Given the description of an element on the screen output the (x, y) to click on. 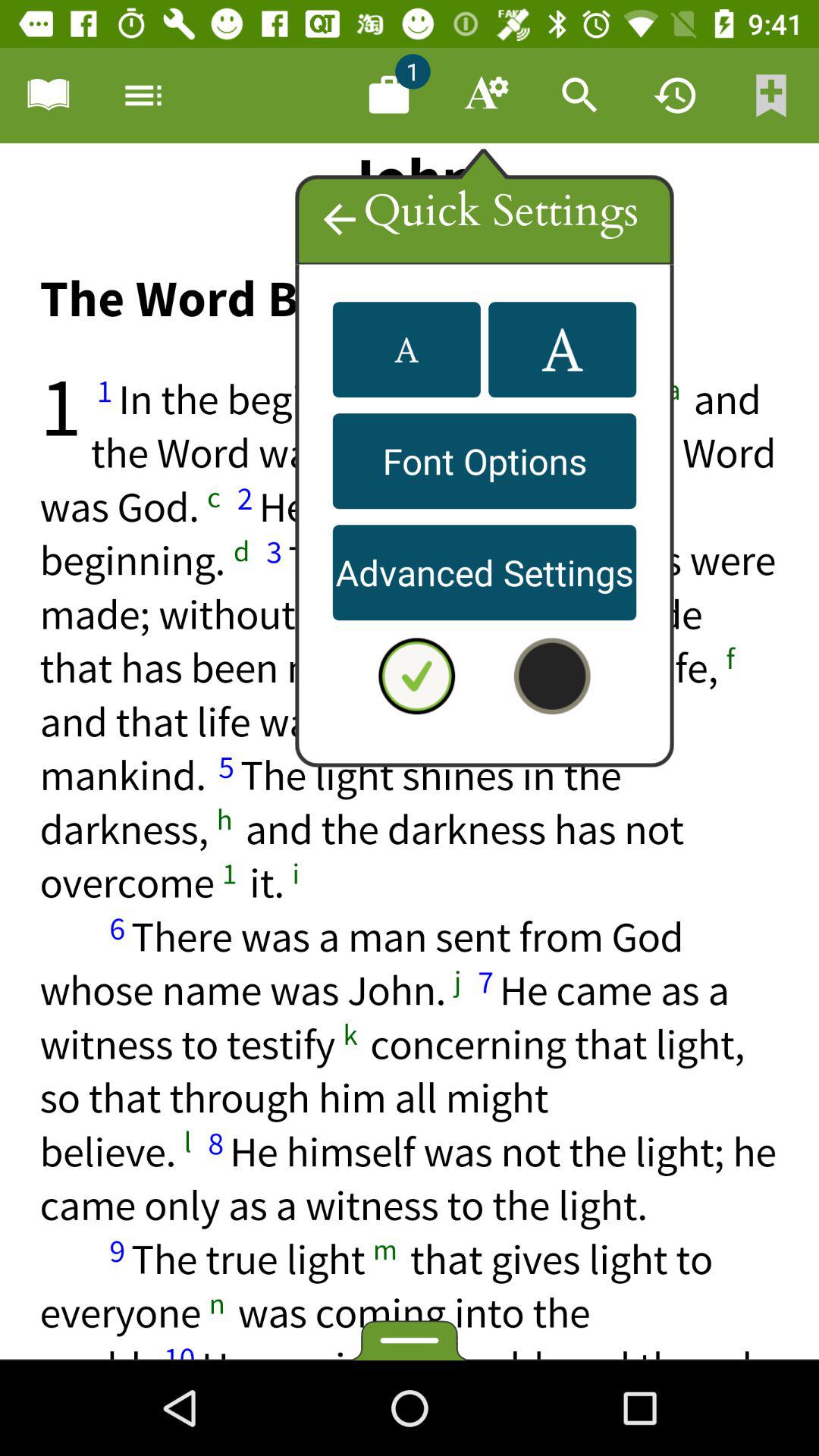
toggle font settings (484, 95)
